Given the description of an element on the screen output the (x, y) to click on. 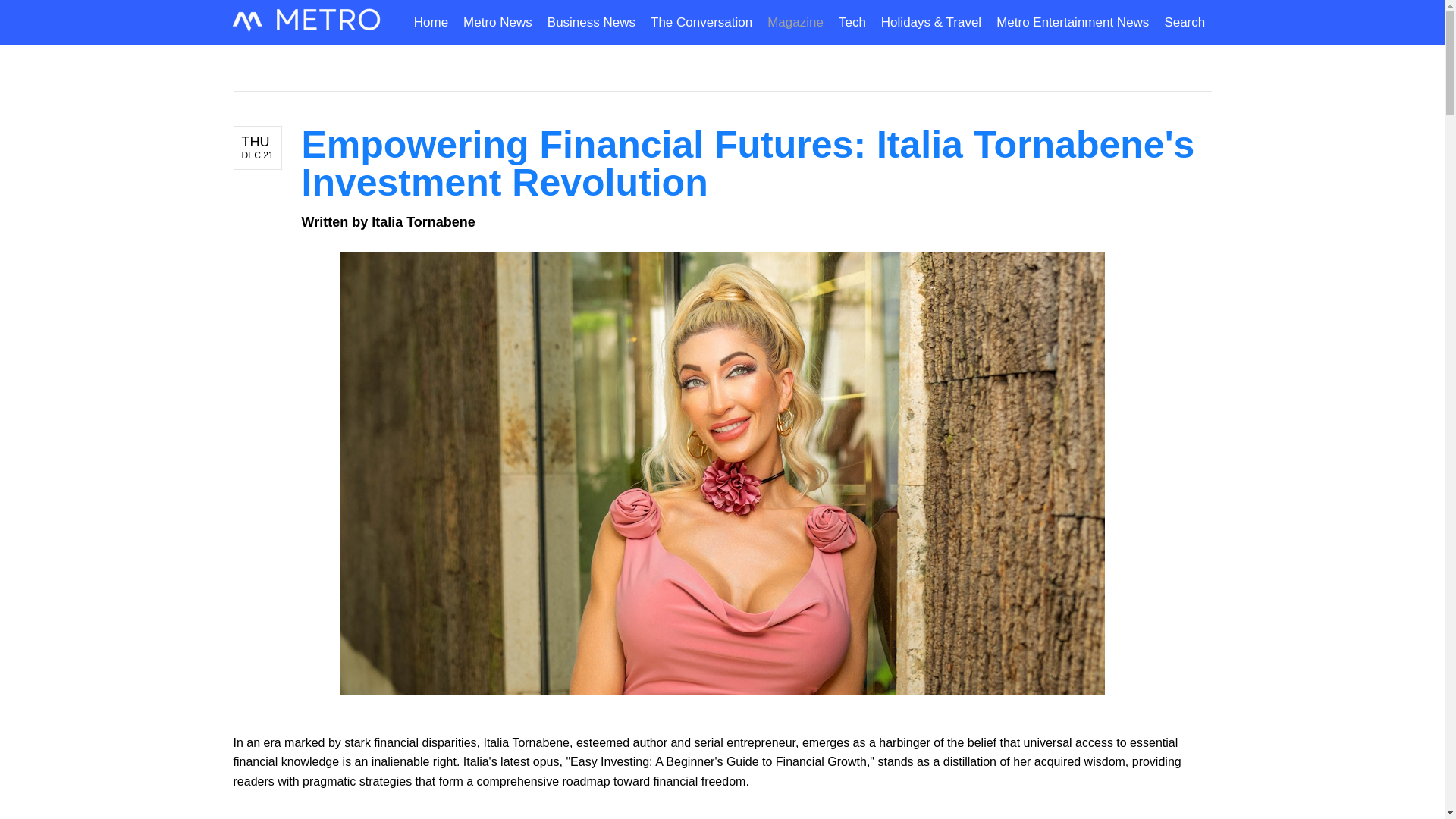
Home (434, 22)
Metro Entertainment News (1072, 22)
Business News (591, 22)
Magazine (795, 22)
Metro News (497, 22)
Search (1180, 22)
The Conversation (701, 22)
Tech (852, 22)
